Given the description of an element on the screen output the (x, y) to click on. 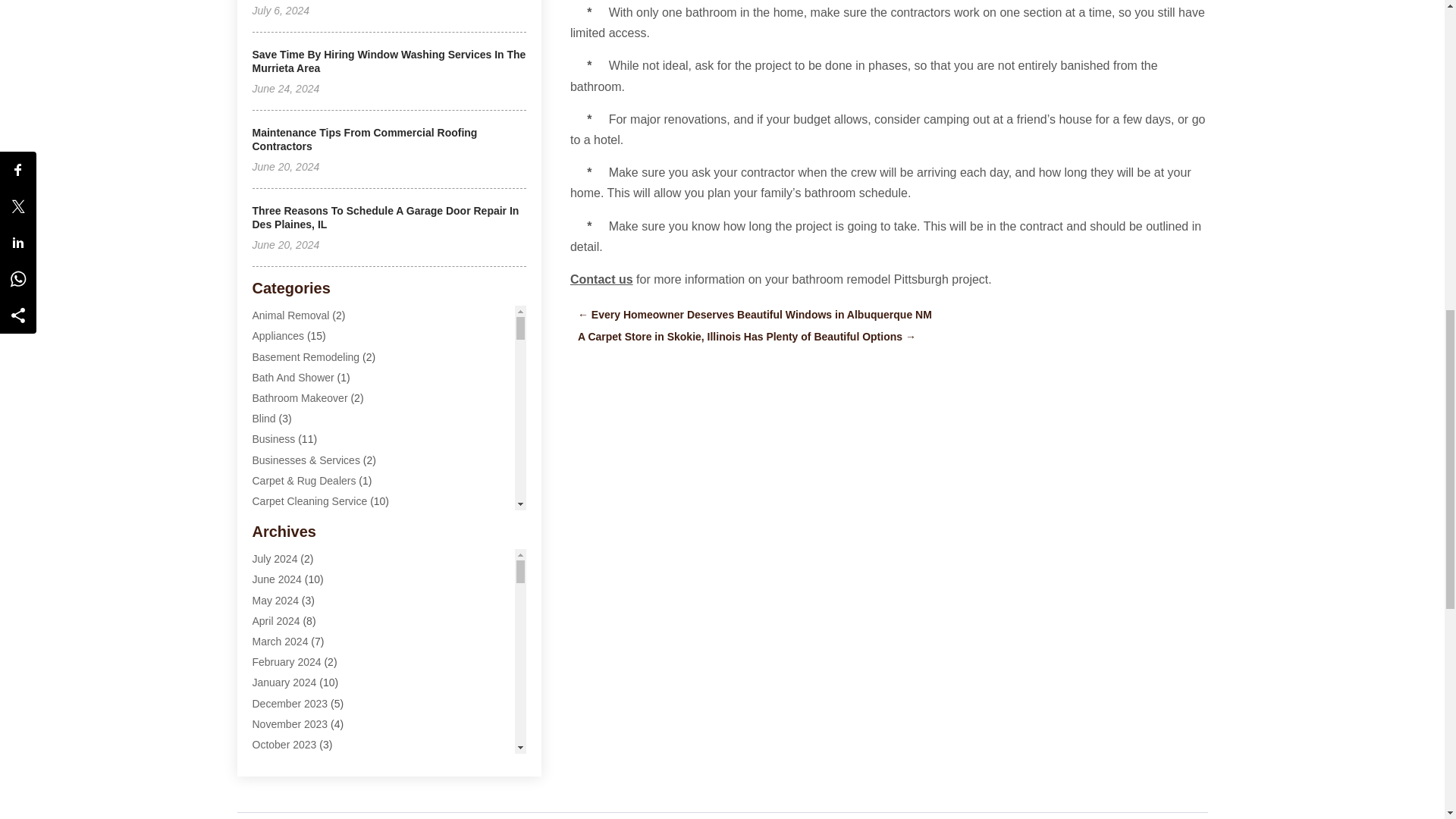
Maintenance Tips From Commercial Roofing Contractors (364, 139)
Chimney Sweep (290, 541)
Custom Home Builder (303, 686)
Cleaning Services (294, 604)
Animal Removal (290, 315)
Blind (263, 418)
Appliances (277, 336)
Basement Remodeling (305, 357)
Bathroom Makeover (299, 398)
Bath And Shower (292, 377)
Cleaning Tips And Tools (308, 624)
Carpet Installation (294, 521)
Construction And Maintenance (323, 645)
Contractor (276, 665)
